Given the description of an element on the screen output the (x, y) to click on. 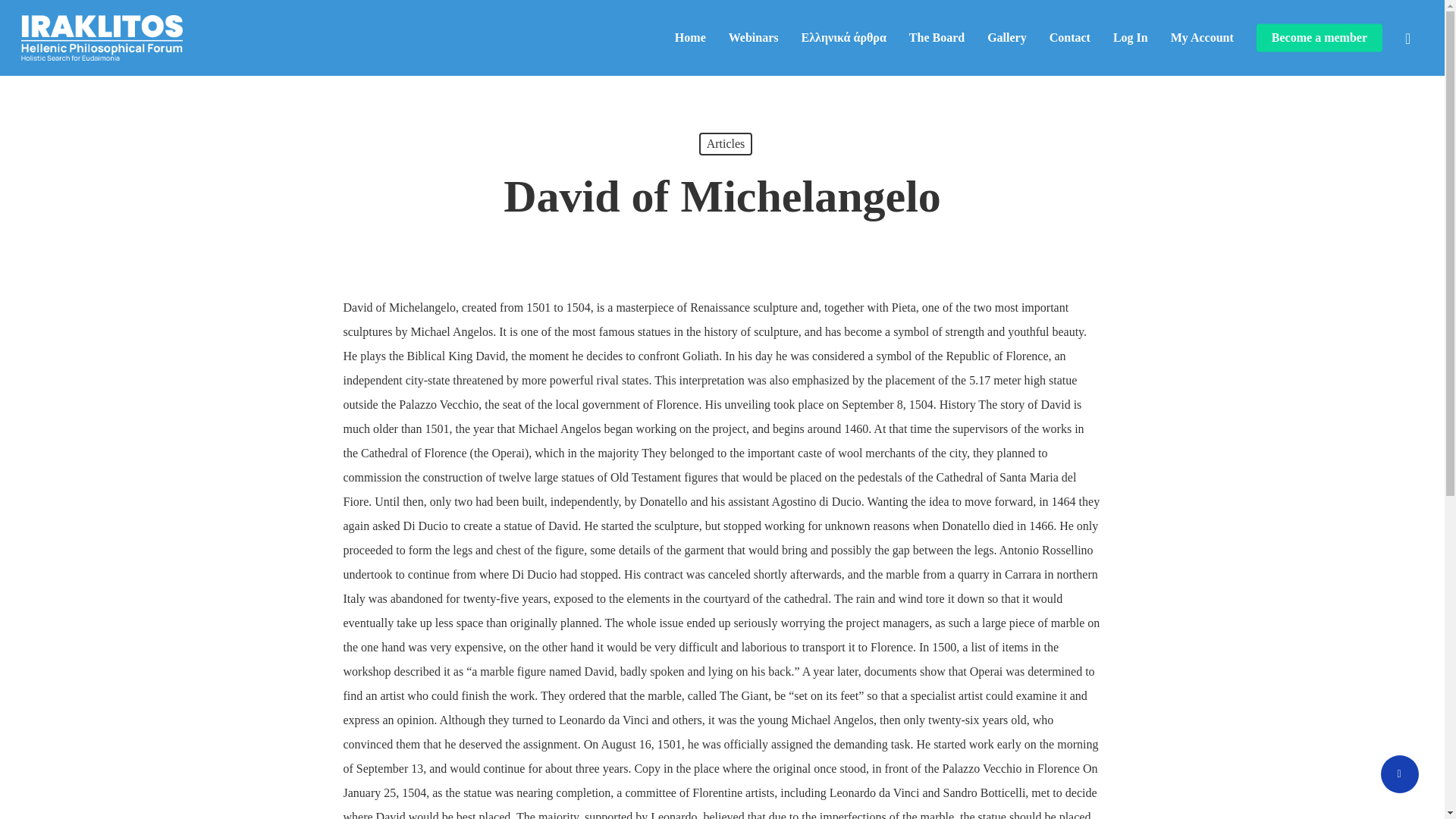
Contact (1069, 37)
Home (690, 37)
Webinars (753, 37)
Log In (1130, 37)
Become a member (1318, 37)
My Account (1201, 37)
Gallery (1006, 37)
The Board (935, 37)
Articles (725, 143)
